Given the description of an element on the screen output the (x, y) to click on. 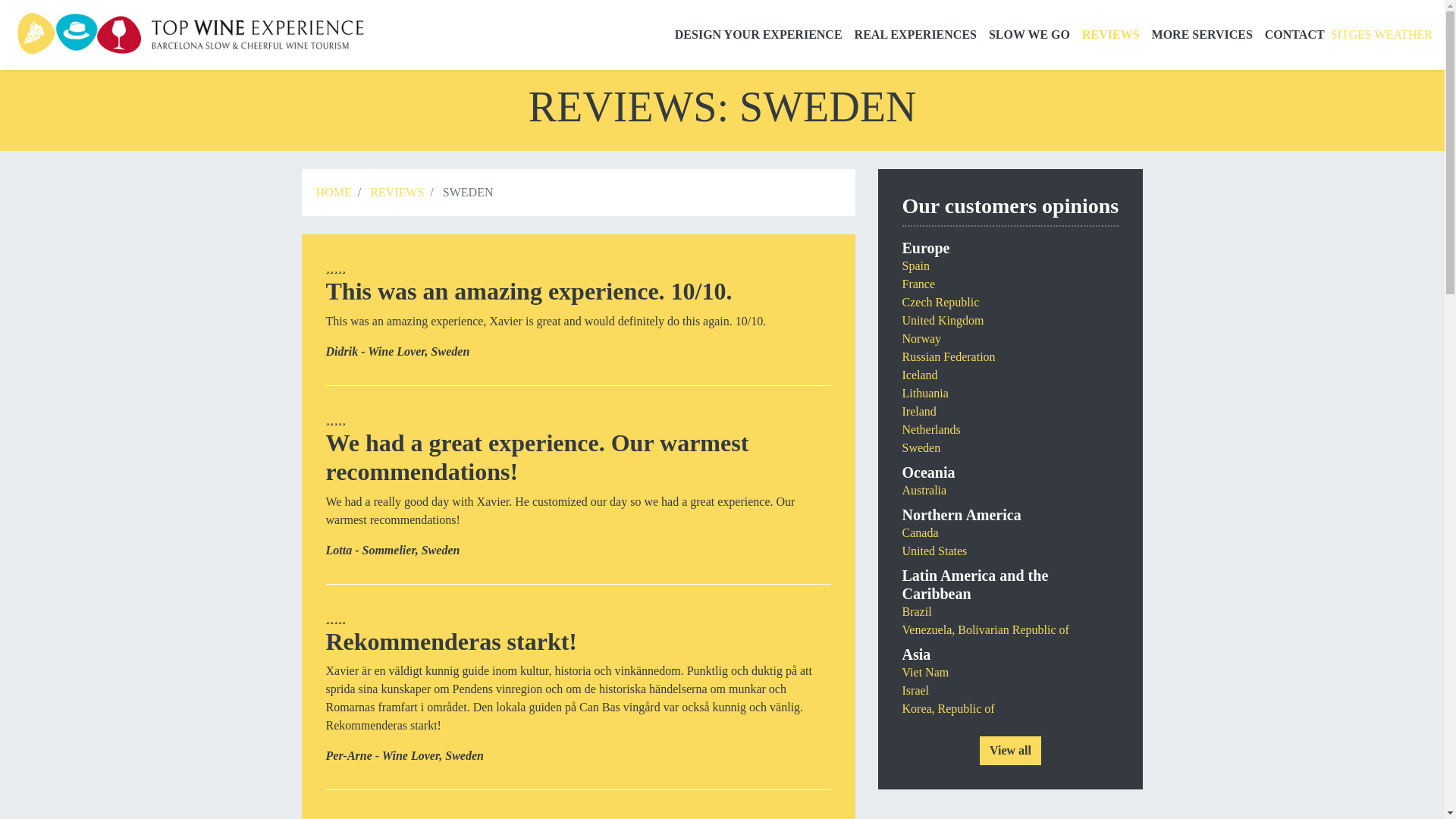
CONTACT (1294, 34)
Brazil (916, 611)
Norway (922, 338)
Viet Nam (925, 671)
Lithuania (925, 392)
France (919, 283)
Iceland (919, 374)
SLOW WE GO (1028, 34)
Israel (916, 689)
Spain (916, 265)
